Given the description of an element on the screen output the (x, y) to click on. 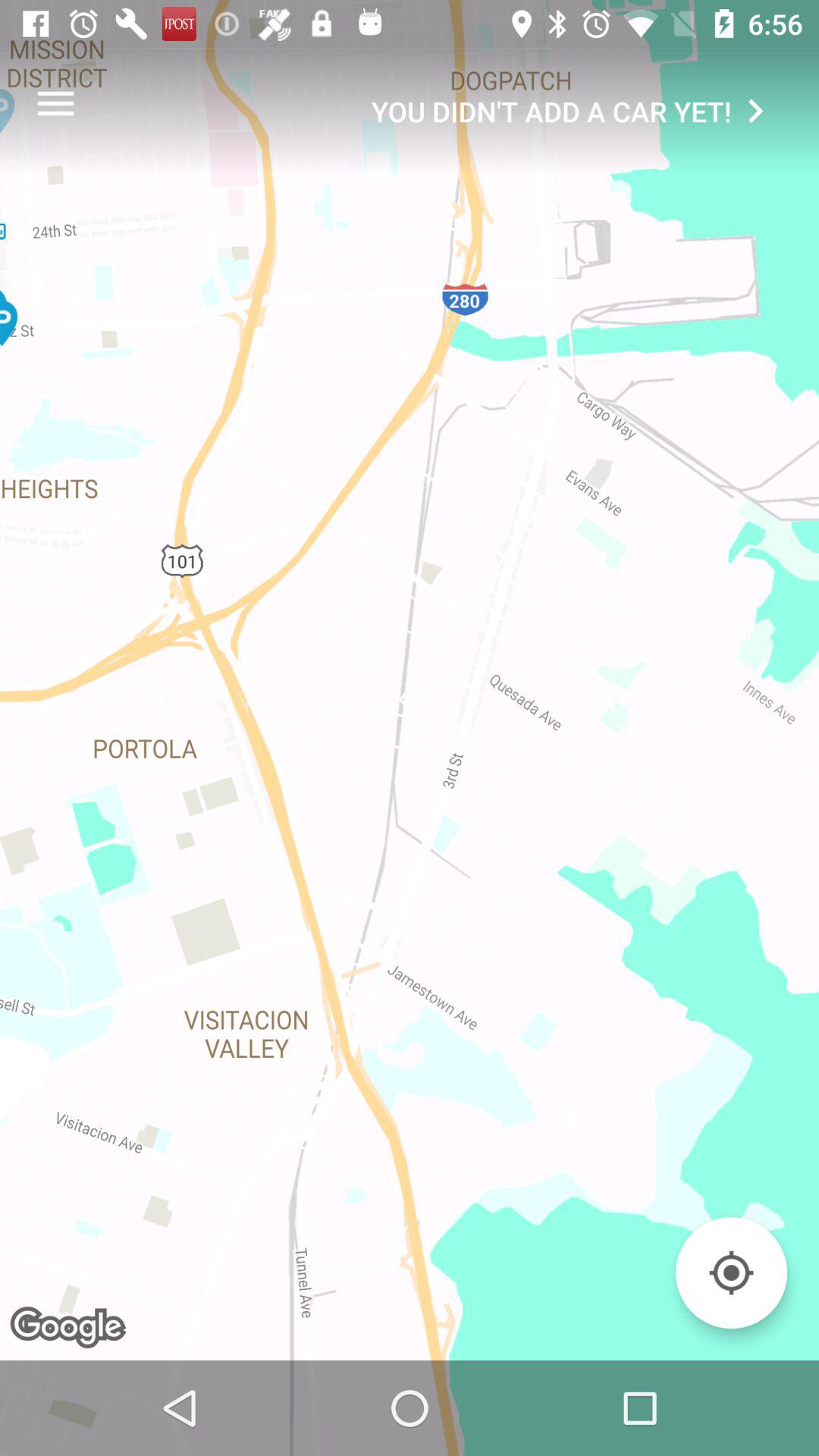
turn on the item at the bottom right corner (731, 1272)
